Given the description of an element on the screen output the (x, y) to click on. 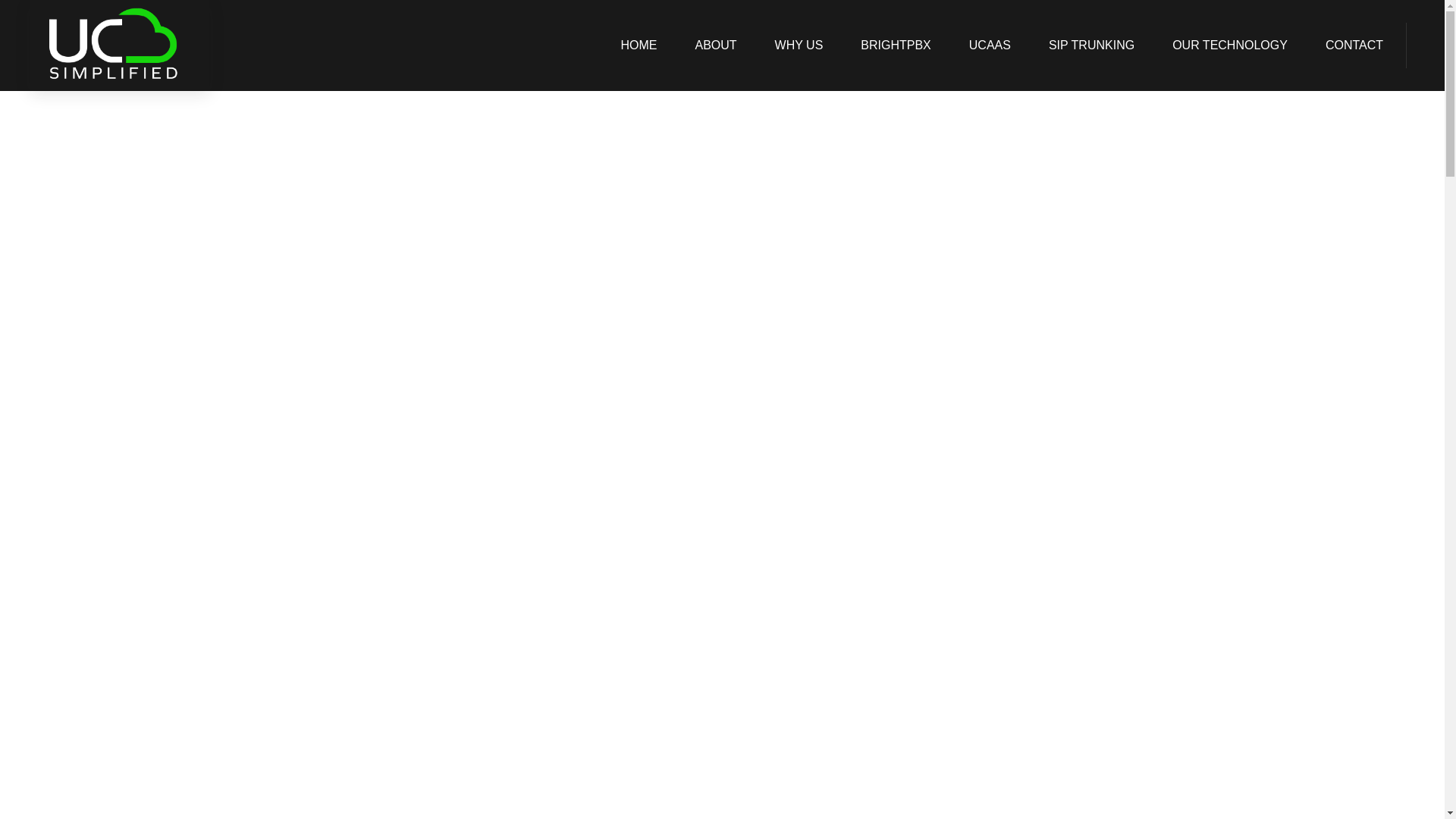
OUR TECHNOLOGY (1230, 44)
SIP TRUNKING (1091, 44)
WHY US (799, 44)
BRIGHTPBX (894, 44)
CONTACT (1353, 44)
HOME (638, 44)
ABOUT (715, 44)
UCAAS (989, 44)
